Given the description of an element on the screen output the (x, y) to click on. 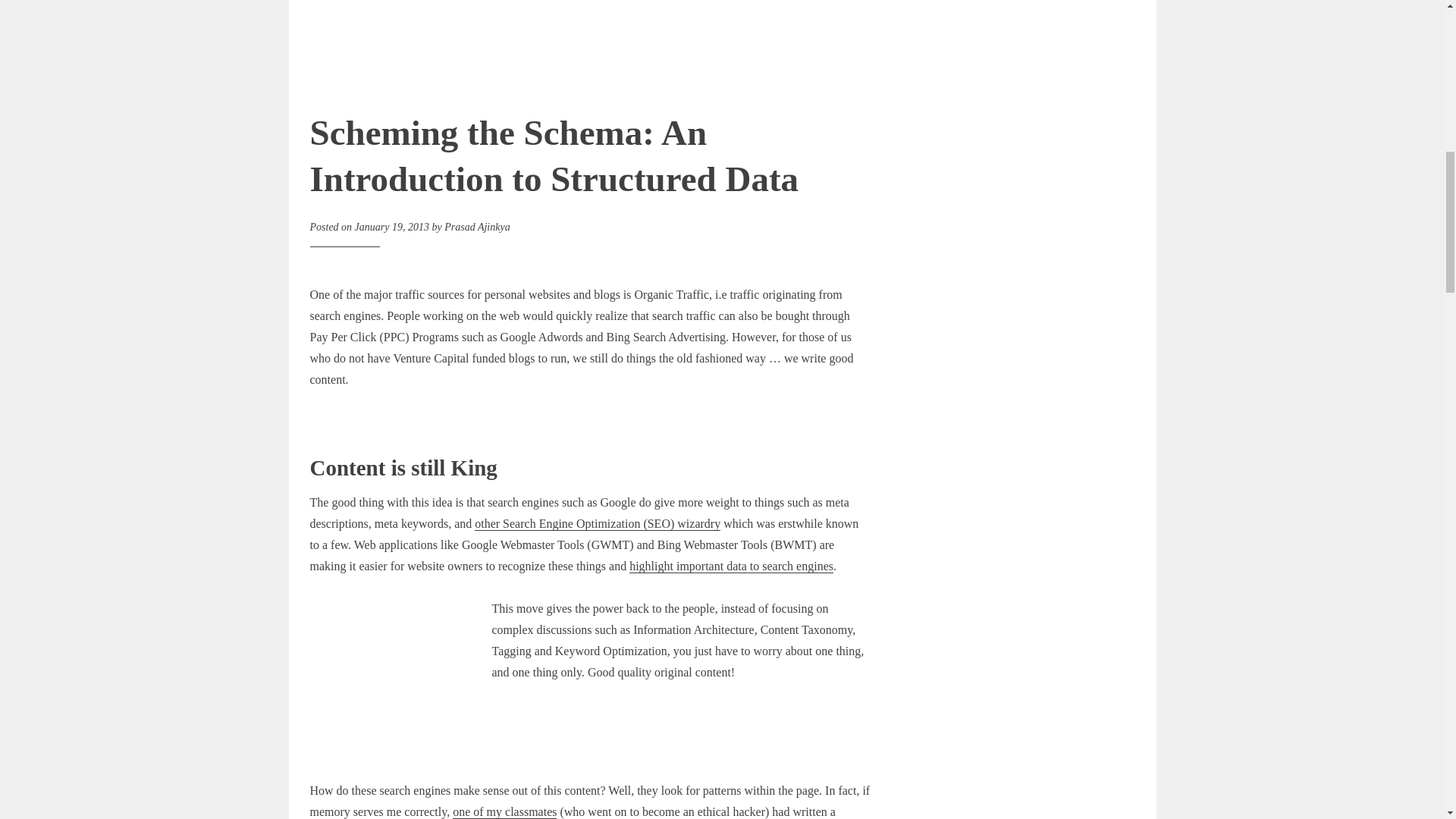
Data Highlighter by Google Webmaster (730, 565)
highlight important data to search engines (730, 565)
one of my classmates (504, 811)
Content is King (400, 689)
Prasad Ajinkya (476, 226)
Starters guide to SEO (597, 522)
January 19, 2013 (392, 226)
Rajat Swarup aka Jholu (504, 811)
